Given the description of an element on the screen output the (x, y) to click on. 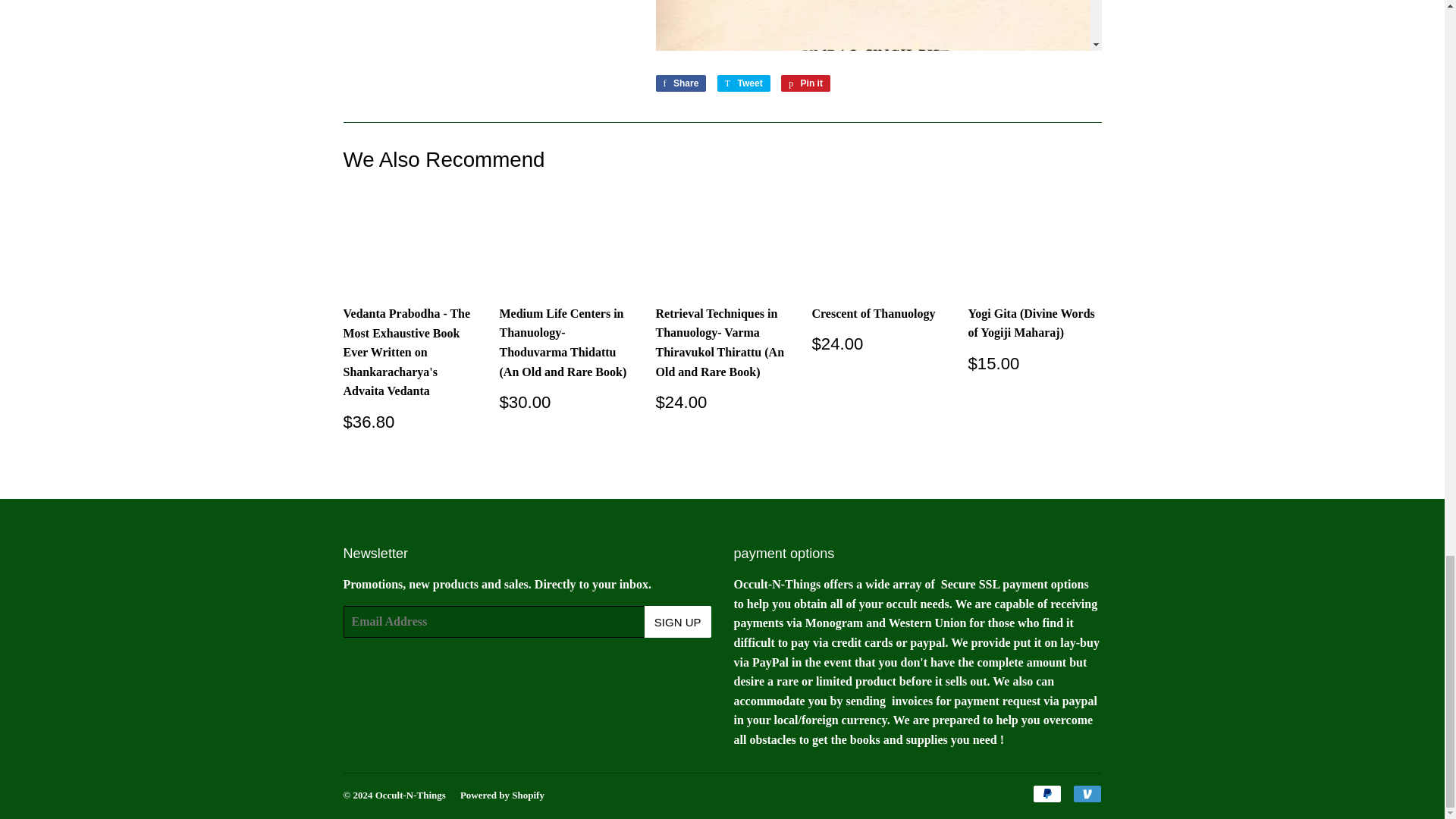
Share on Facebook (680, 83)
PayPal (680, 83)
Pin on Pinterest (1046, 793)
Tweet on Twitter (743, 83)
Venmo (804, 83)
